Given the description of an element on the screen output the (x, y) to click on. 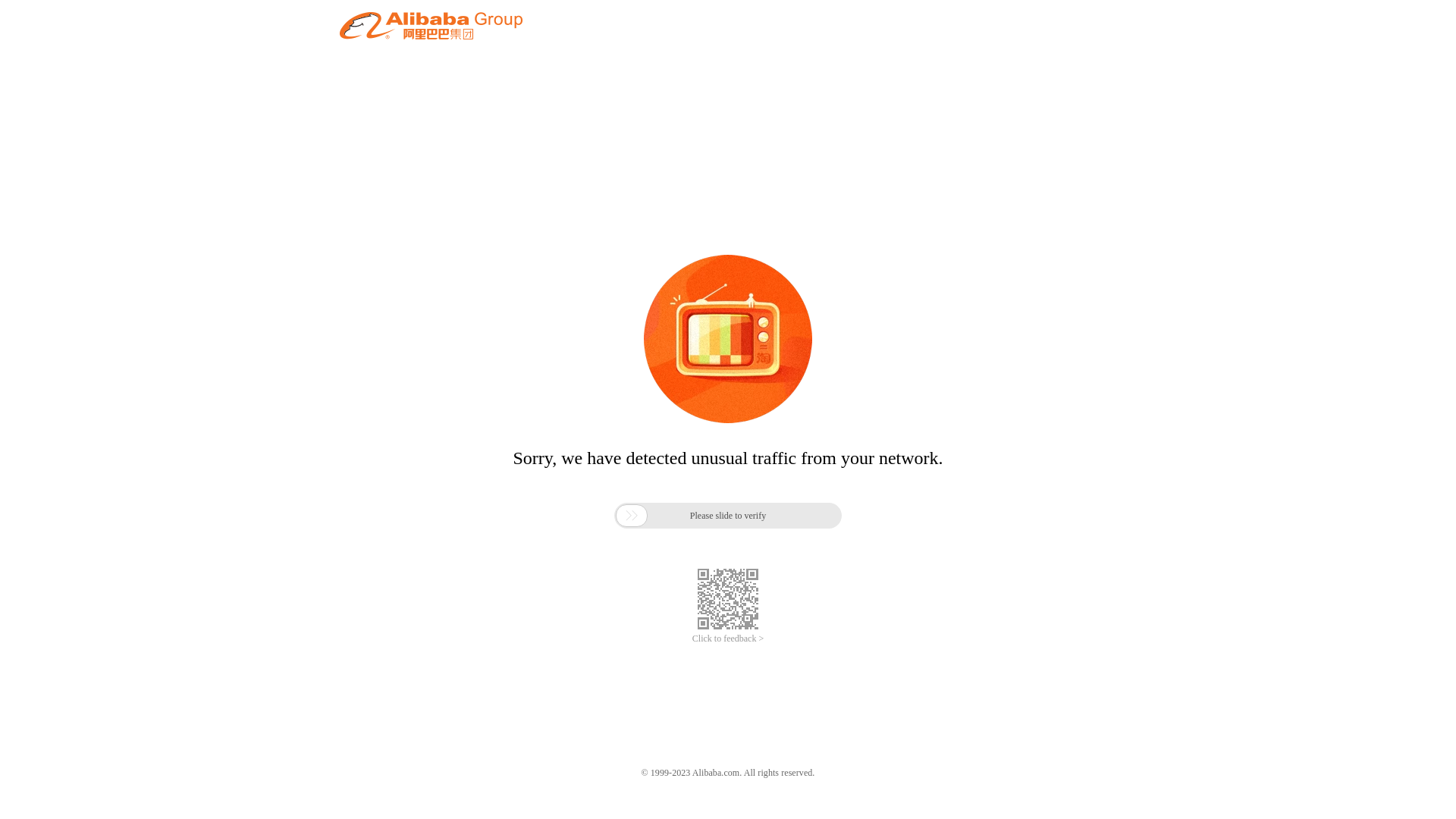
Click to feedback > Element type: text (727, 638)
